Given the description of an element on the screen output the (x, y) to click on. 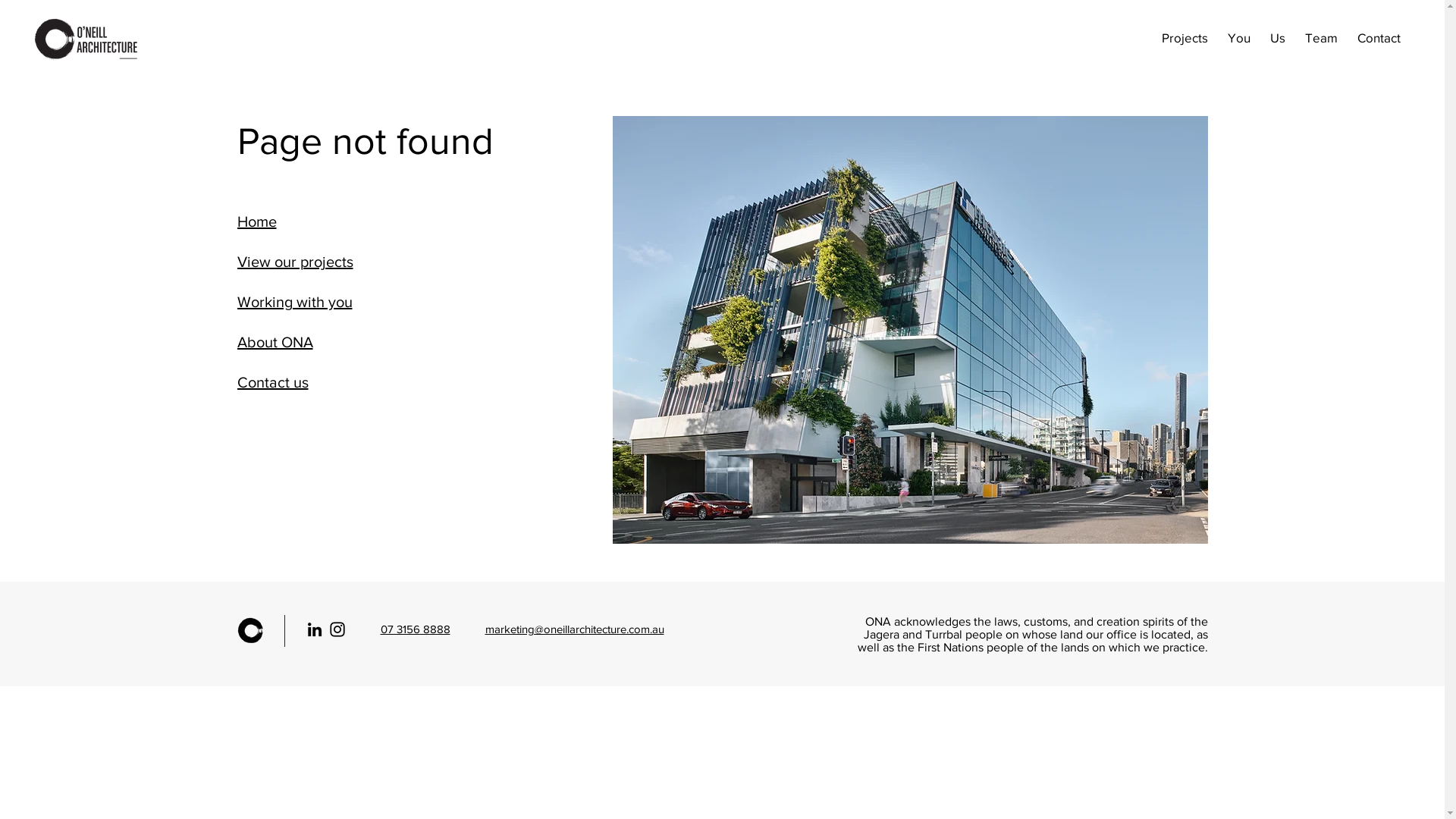
Projects Element type: text (1184, 37)
07 3156 8888 Element type: text (415, 628)
View our projects Element type: text (299, 261)
Contact Element type: text (1378, 37)
Contact us Element type: text (299, 382)
Us Element type: text (1277, 37)
Team Element type: text (1321, 37)
Working with you Element type: text (299, 301)
About ONA Element type: text (299, 341)
You Element type: text (1238, 37)
Home Element type: text (299, 221)
marketing@oneillarchitecture.com.au Element type: text (574, 628)
